Given the description of an element on the screen output the (x, y) to click on. 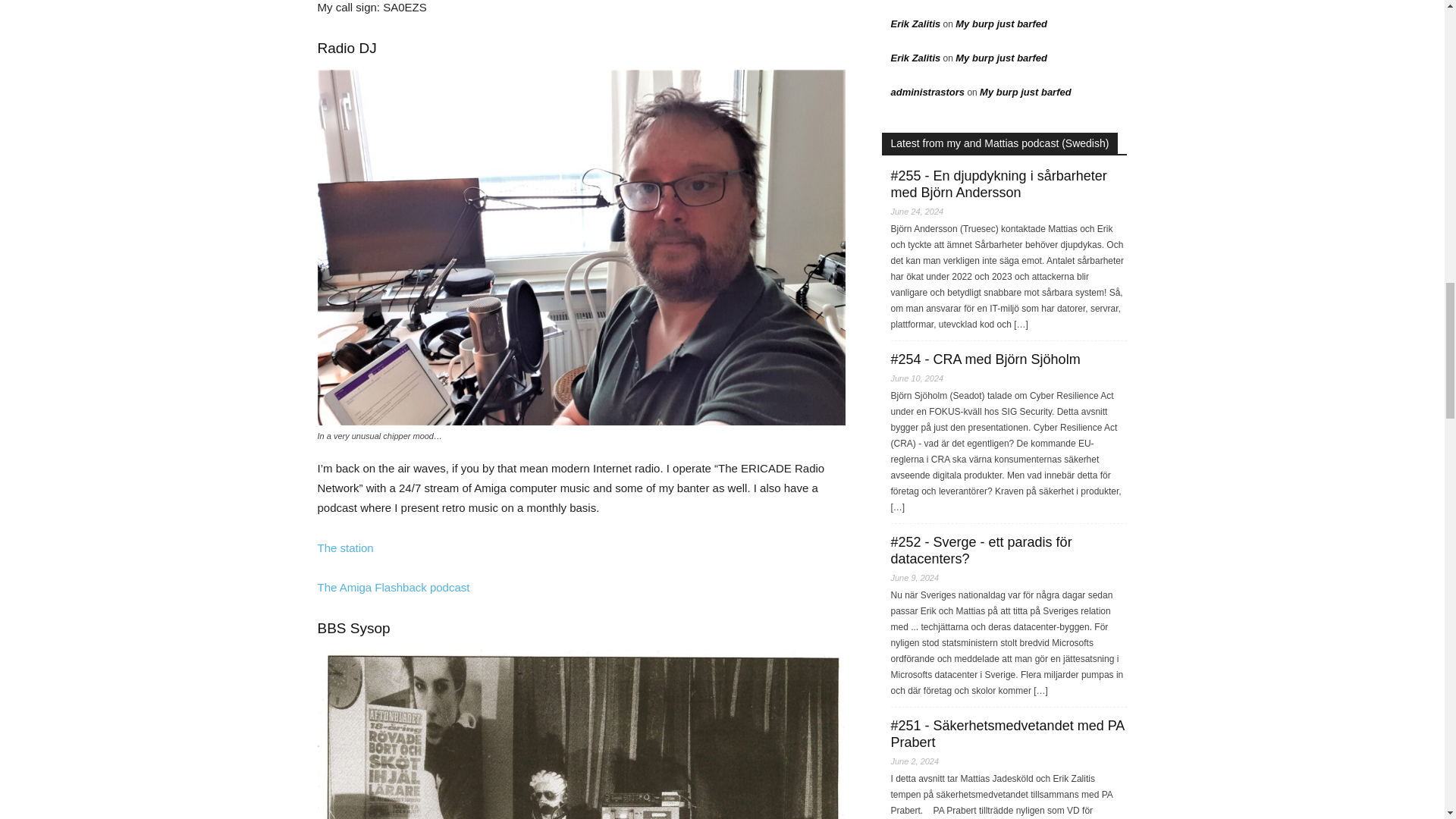
The Amiga Flashback podcast (392, 586)
The station (344, 547)
